Given the description of an element on the screen output the (x, y) to click on. 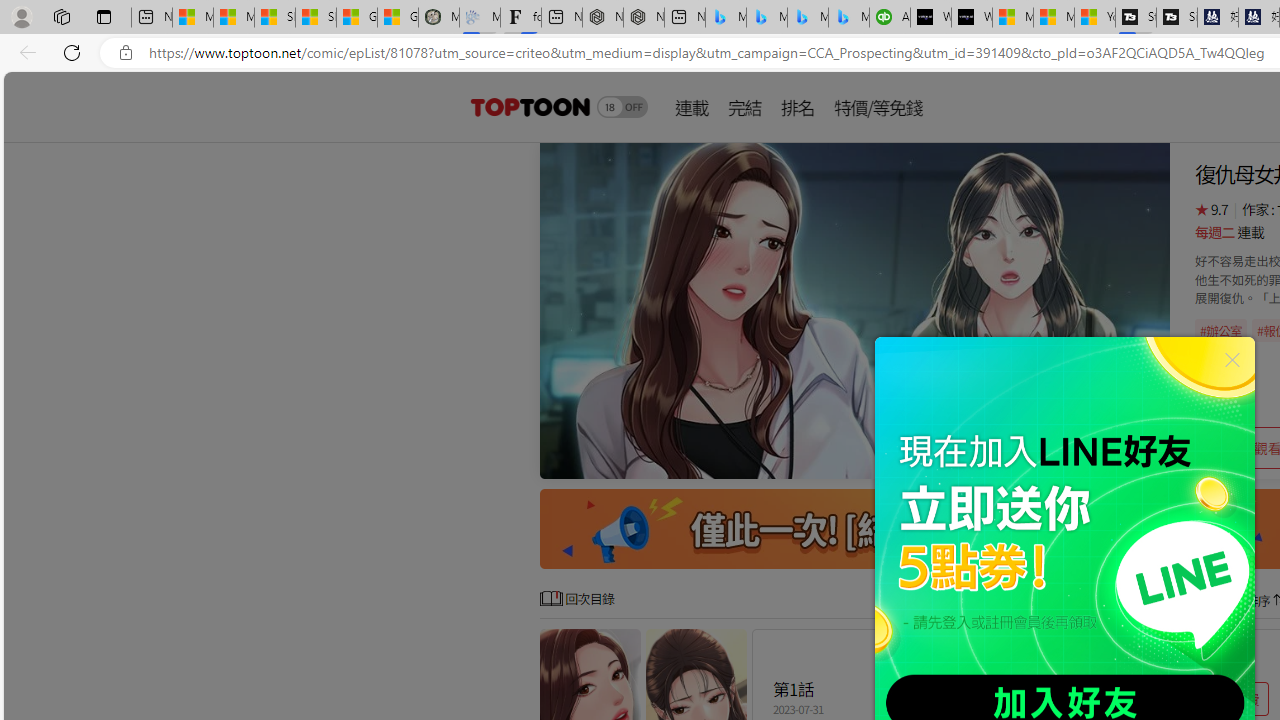
Class: swiper-slide (854, 310)
Microsoft Bing Travel - Stays in Bangkok, Bangkok, Thailand (767, 17)
